Given the description of an element on the screen output the (x, y) to click on. 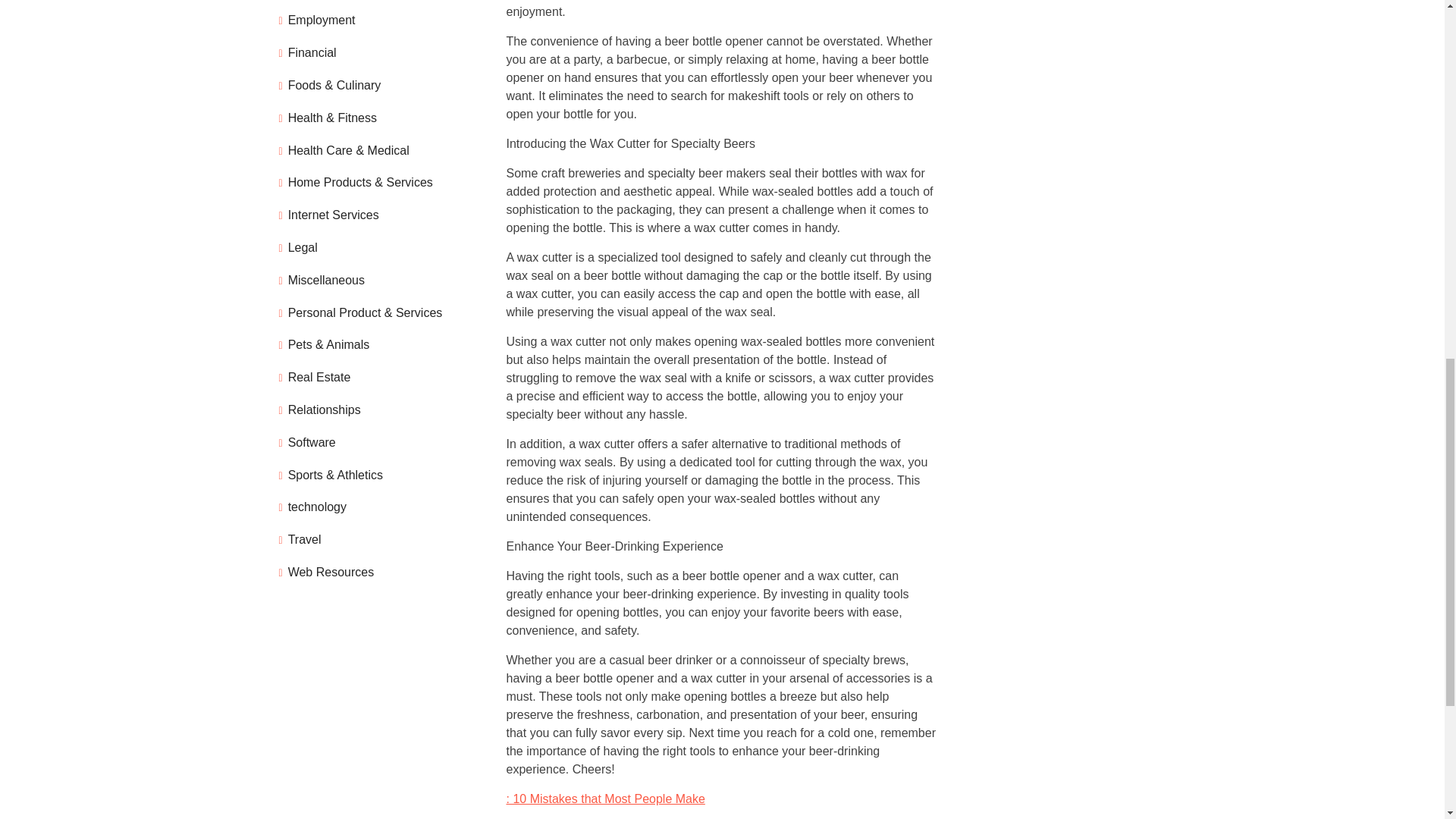
: 10 Mistakes that Most People Make (605, 797)
